Given the description of an element on the screen output the (x, y) to click on. 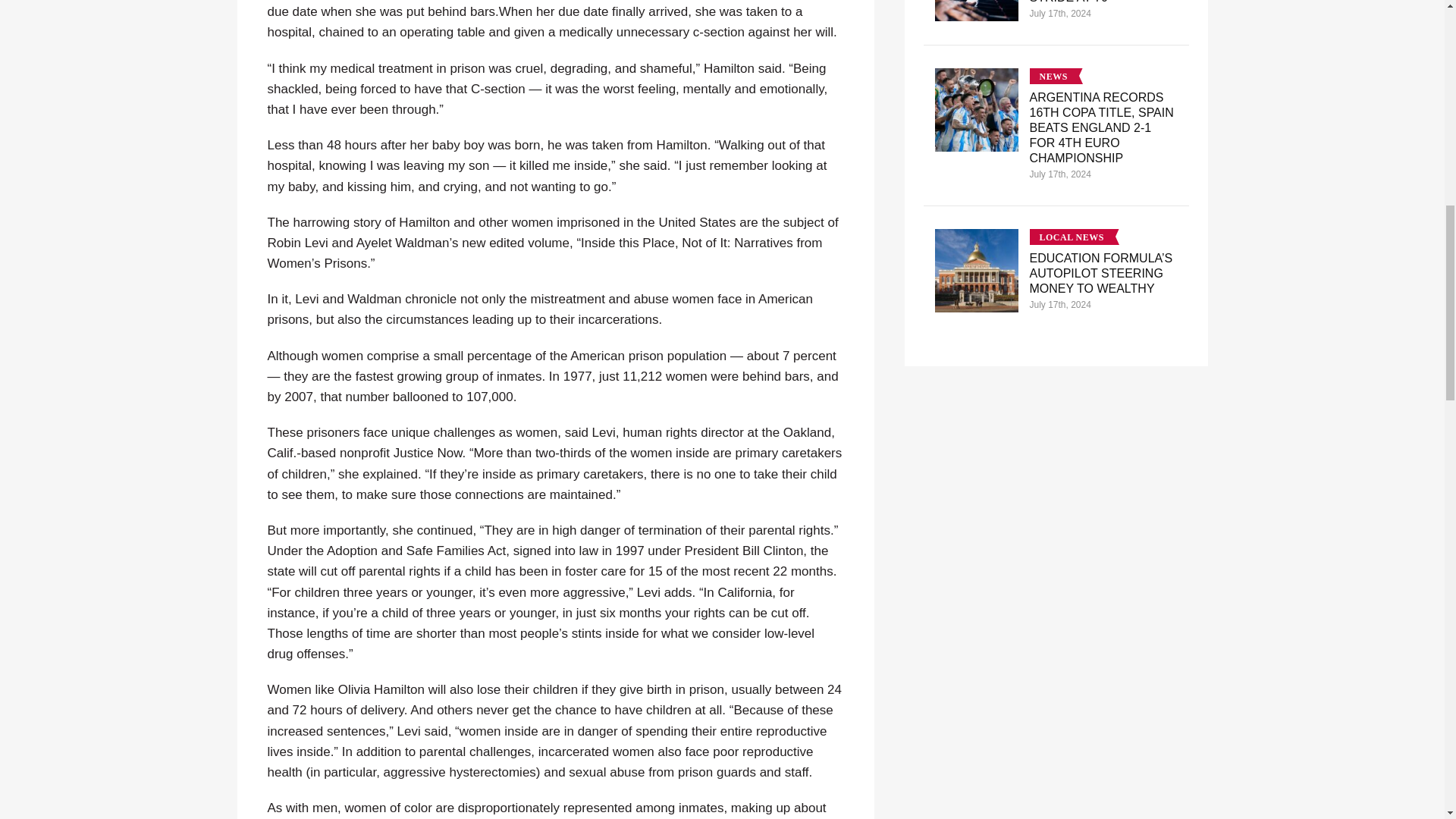
3rd party ad content (1055, 607)
